Given the description of an element on the screen output the (x, y) to click on. 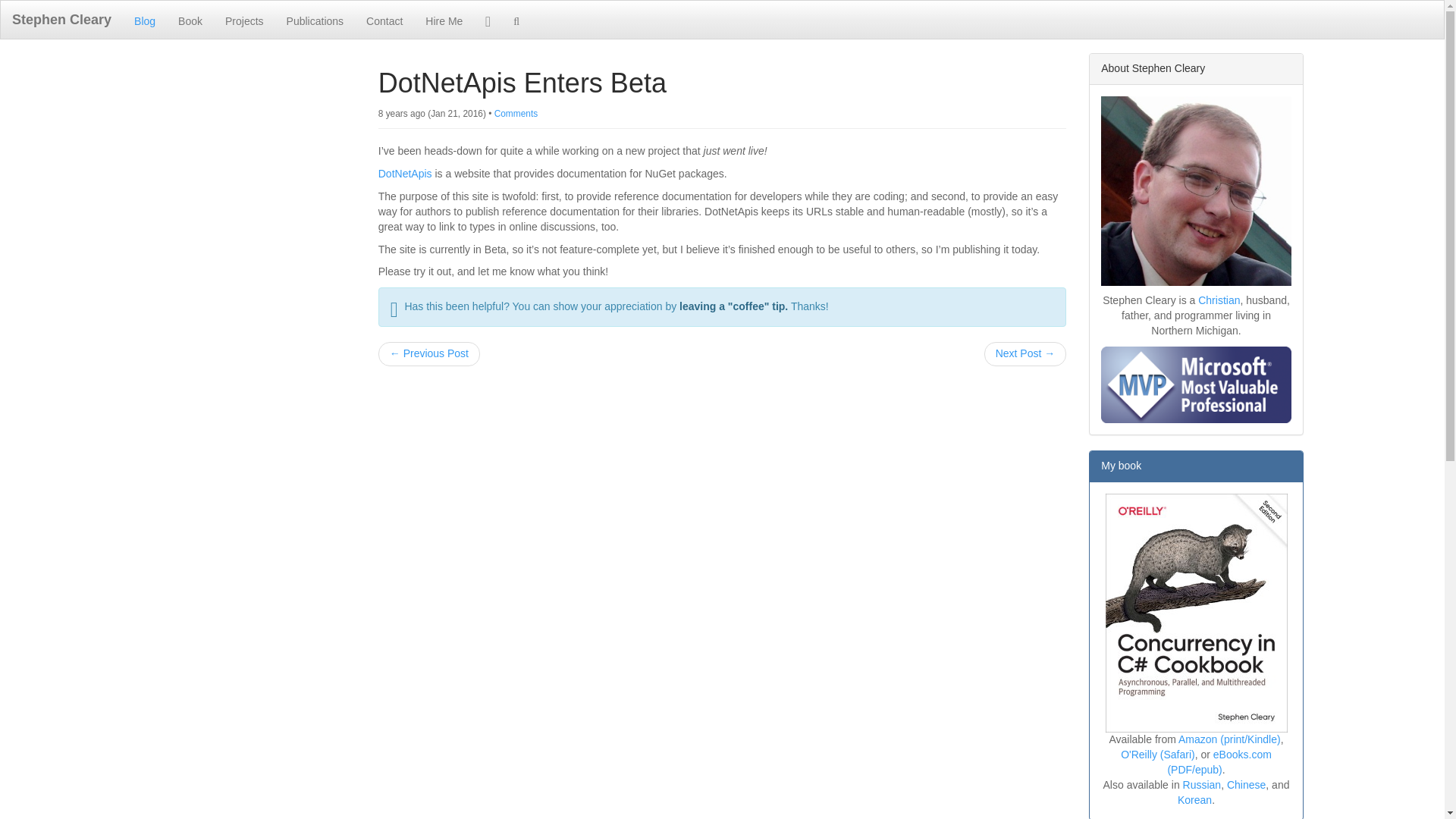
Book (190, 19)
Comments (516, 113)
Projects (244, 19)
Blog (144, 19)
DotNetApis (405, 173)
Russian (1201, 784)
leaving a "coffee" tip. (733, 306)
ThatConference 2015 (429, 354)
Chinese (1246, 784)
Korean (1194, 799)
Christian (1219, 300)
Publications (315, 19)
Hire Me (443, 19)
Contact (384, 19)
Stephen Cleary (61, 19)
